Given the description of an element on the screen output the (x, y) to click on. 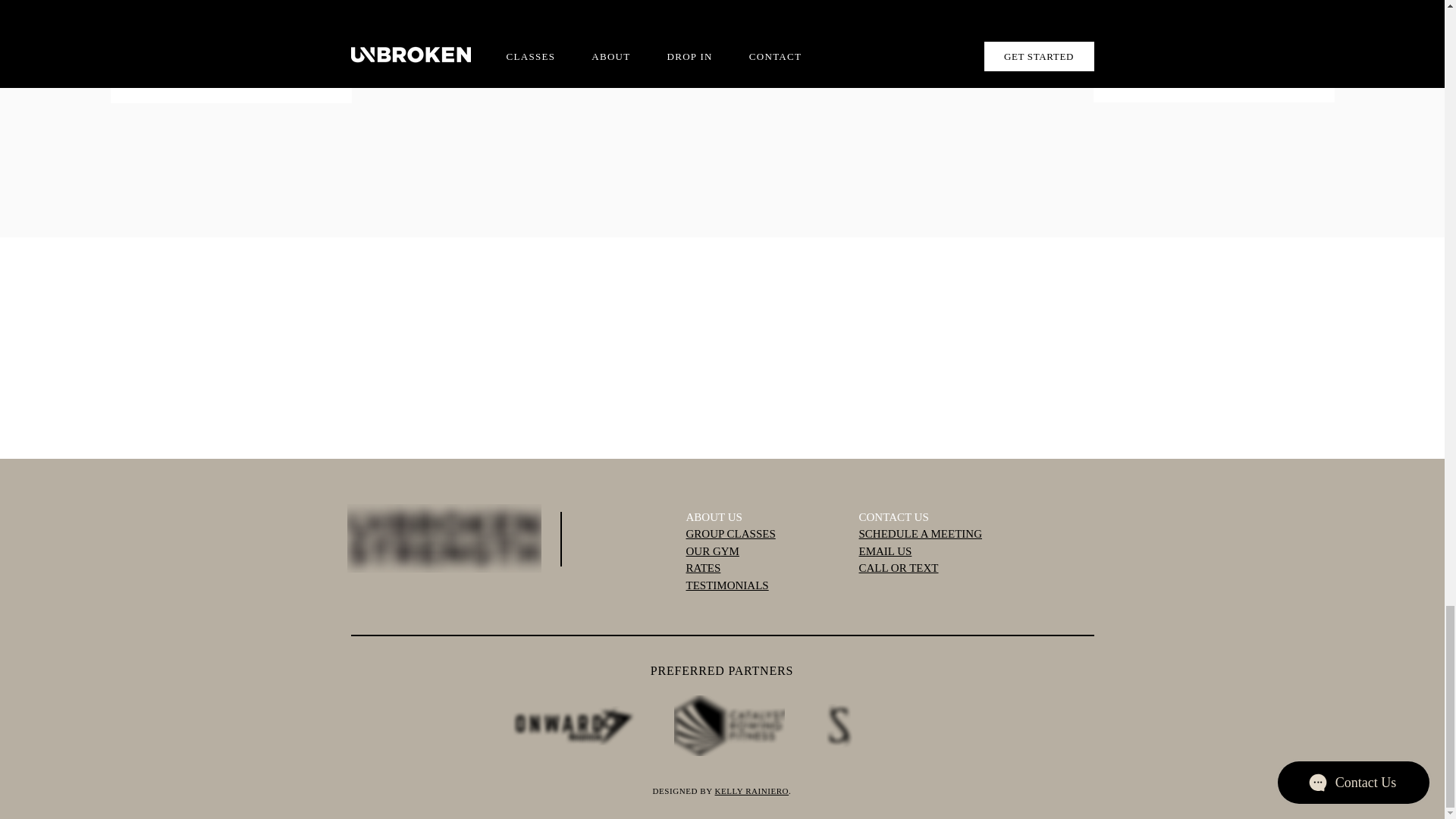
KELLY RAINIERO (751, 790)
EMAIL US (885, 551)
RATES (702, 567)
SCHEDULE A MEETING (920, 533)
OUR GYM (711, 551)
CALL OR TEXT (898, 567)
GROUP CLASSES (729, 533)
TESTIMONIALS (726, 585)
